Given the description of an element on the screen output the (x, y) to click on. 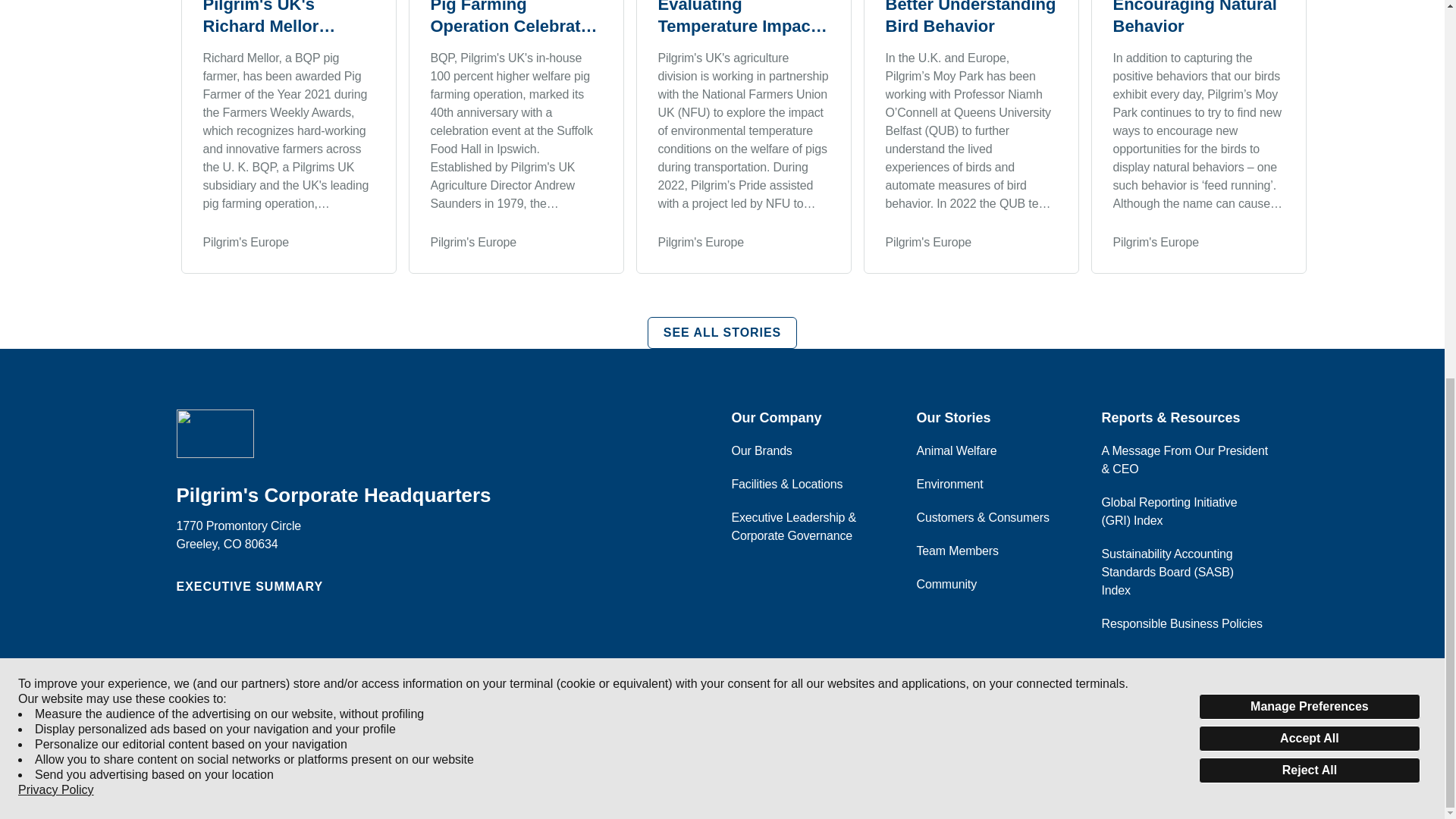
Reject All (1309, 71)
Privacy Policy (55, 90)
Manage Preferences (1309, 10)
Accept All (1309, 39)
